Given the description of an element on the screen output the (x, y) to click on. 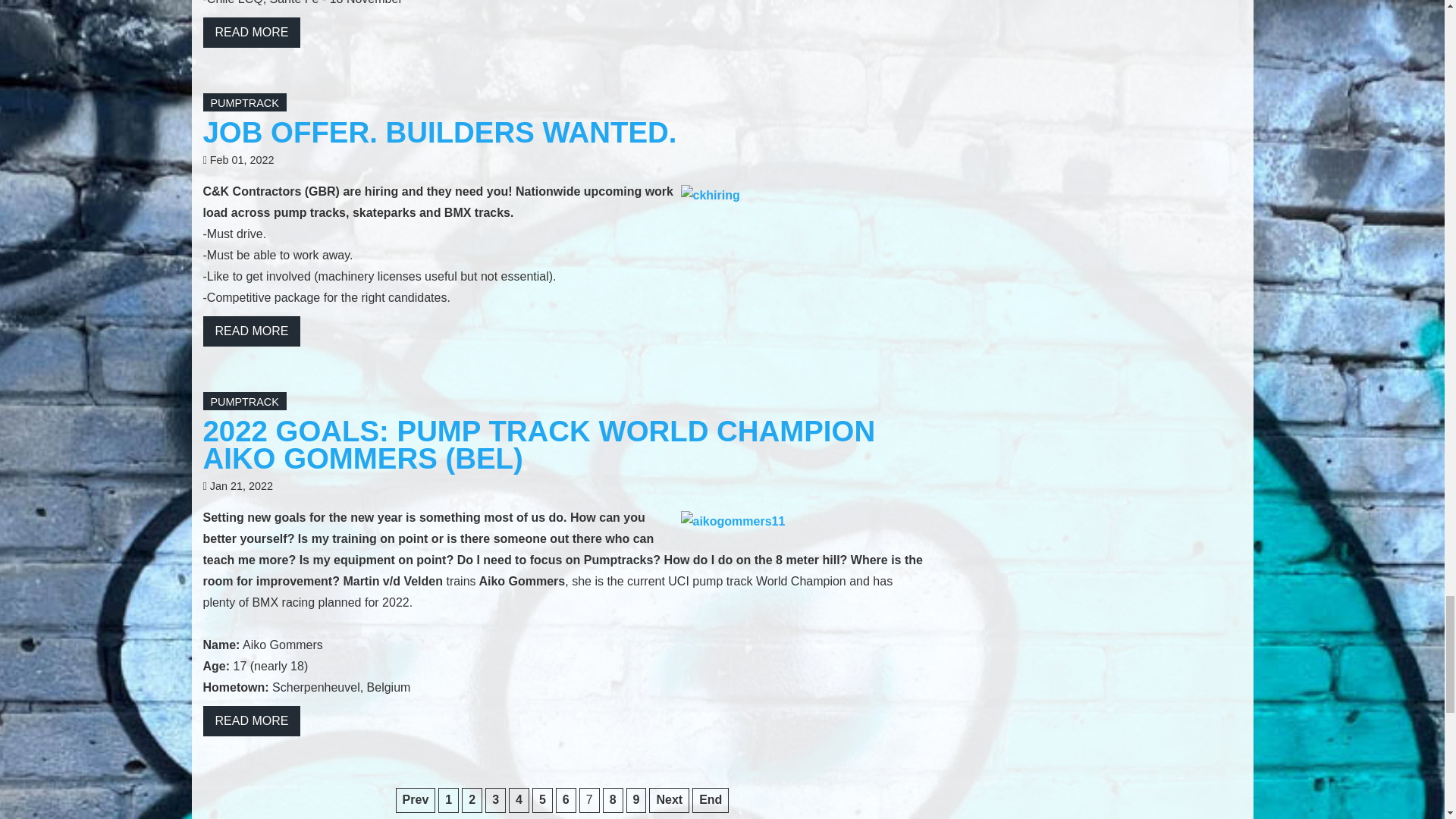
Prev (415, 800)
End (711, 800)
Next (668, 800)
